Given the description of an element on the screen output the (x, y) to click on. 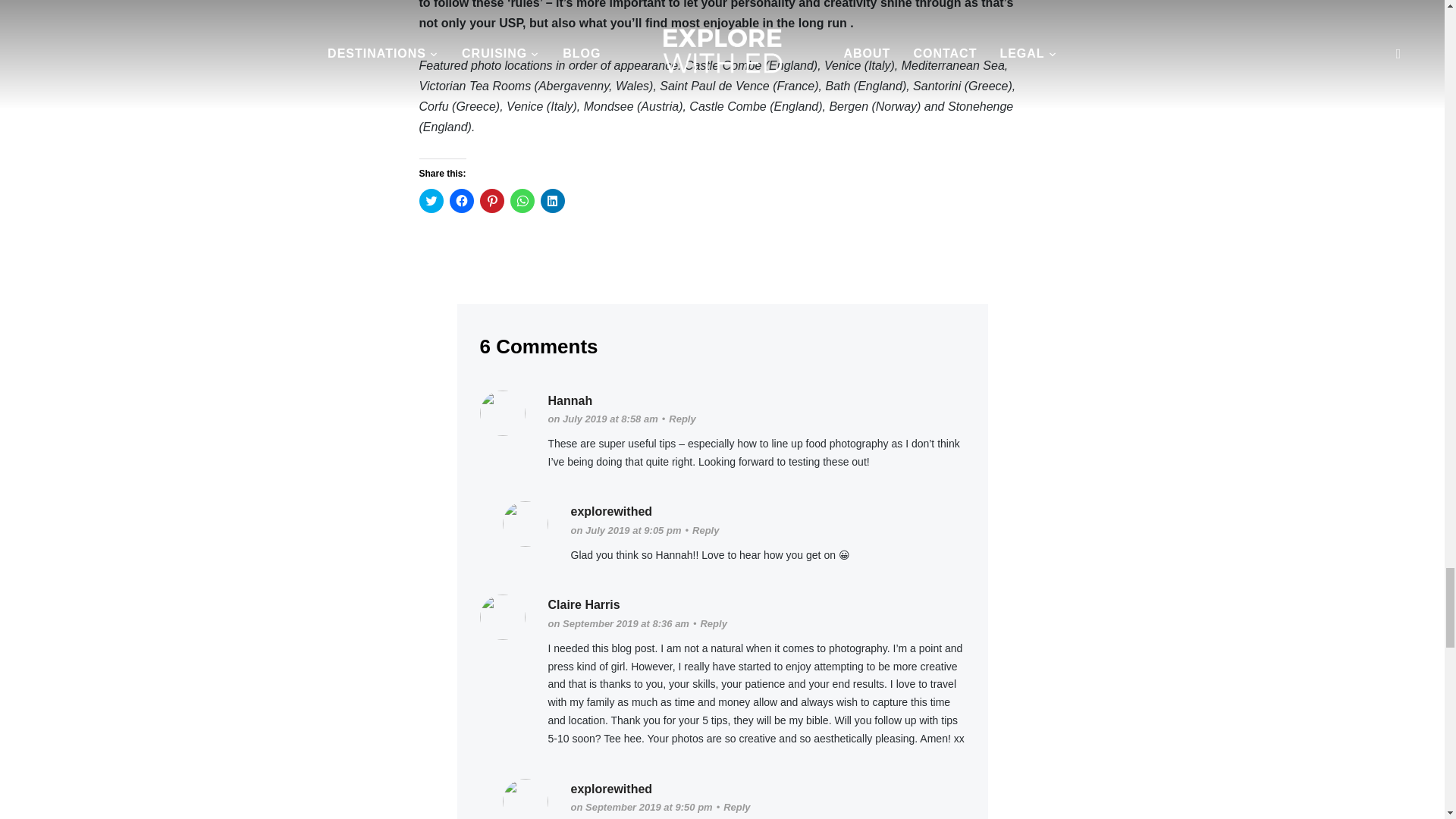
Click to share on Facebook (460, 200)
Click to share on Twitter (430, 200)
Click to share on WhatsApp (521, 200)
Click to share on LinkedIn (552, 200)
Click to share on Pinterest (491, 200)
